Given the description of an element on the screen output the (x, y) to click on. 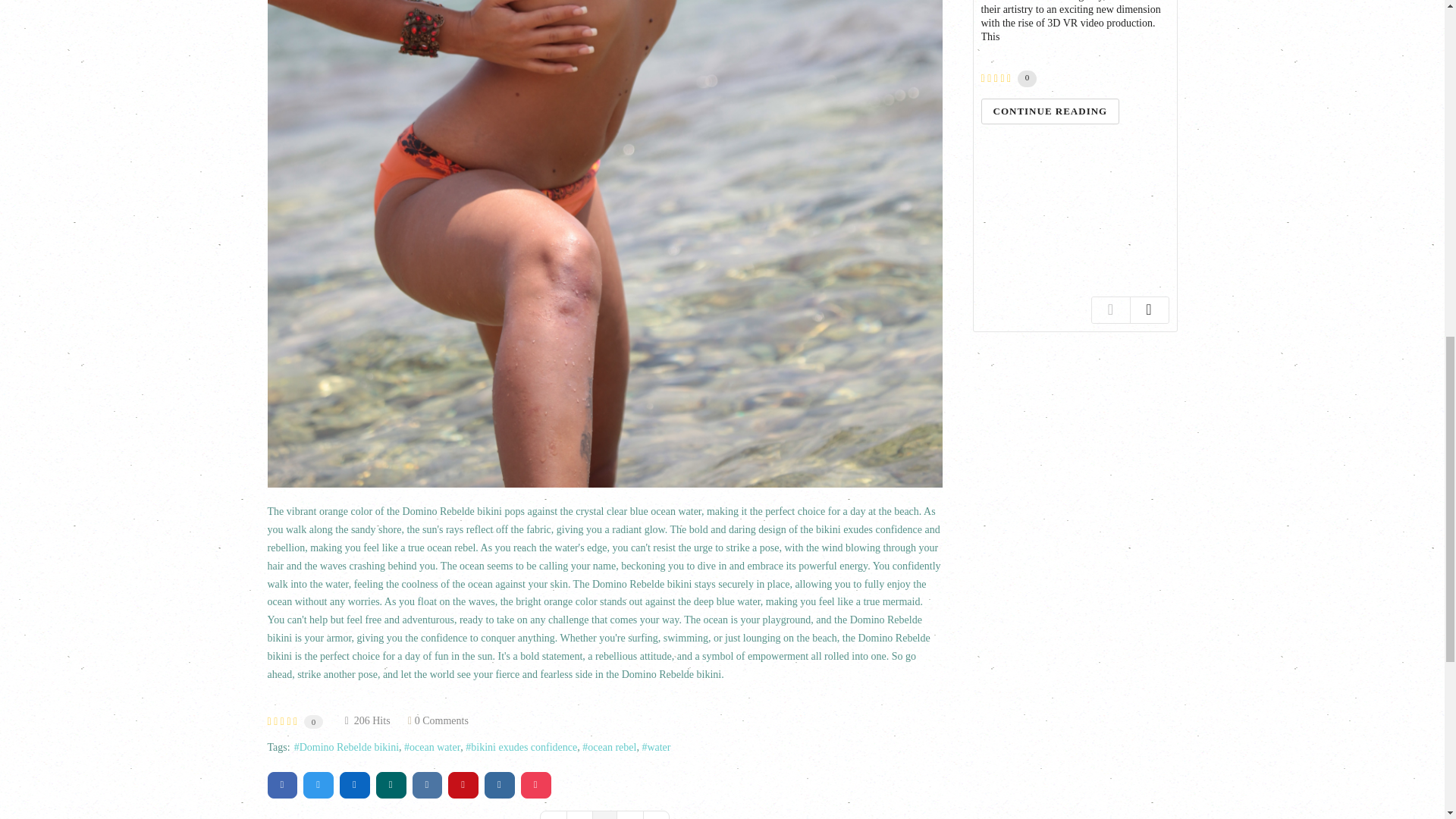
Not rated yet! (281, 721)
0 votes (313, 721)
